Given the description of an element on the screen output the (x, y) to click on. 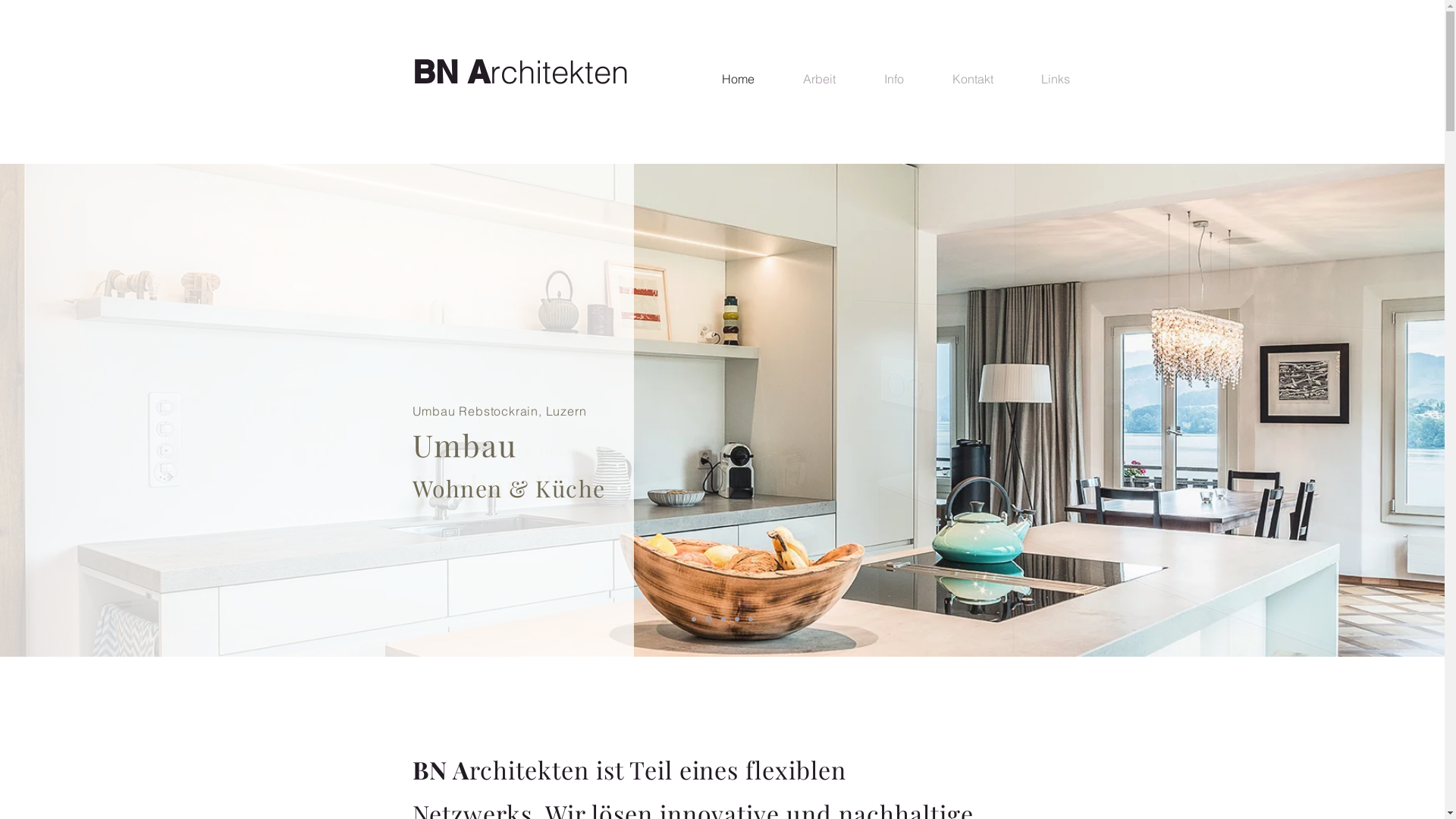
Info Element type: text (893, 79)
Arbeit Element type: text (818, 79)
TWIPLA (Visitor Analytics) Element type: hover (520, 344)
Kontakt Element type: text (972, 79)
rchitekten Element type: text (558, 71)
BN A Element type: text (450, 72)
Links Element type: text (1055, 79)
Home Element type: text (737, 79)
